Given the description of an element on the screen output the (x, y) to click on. 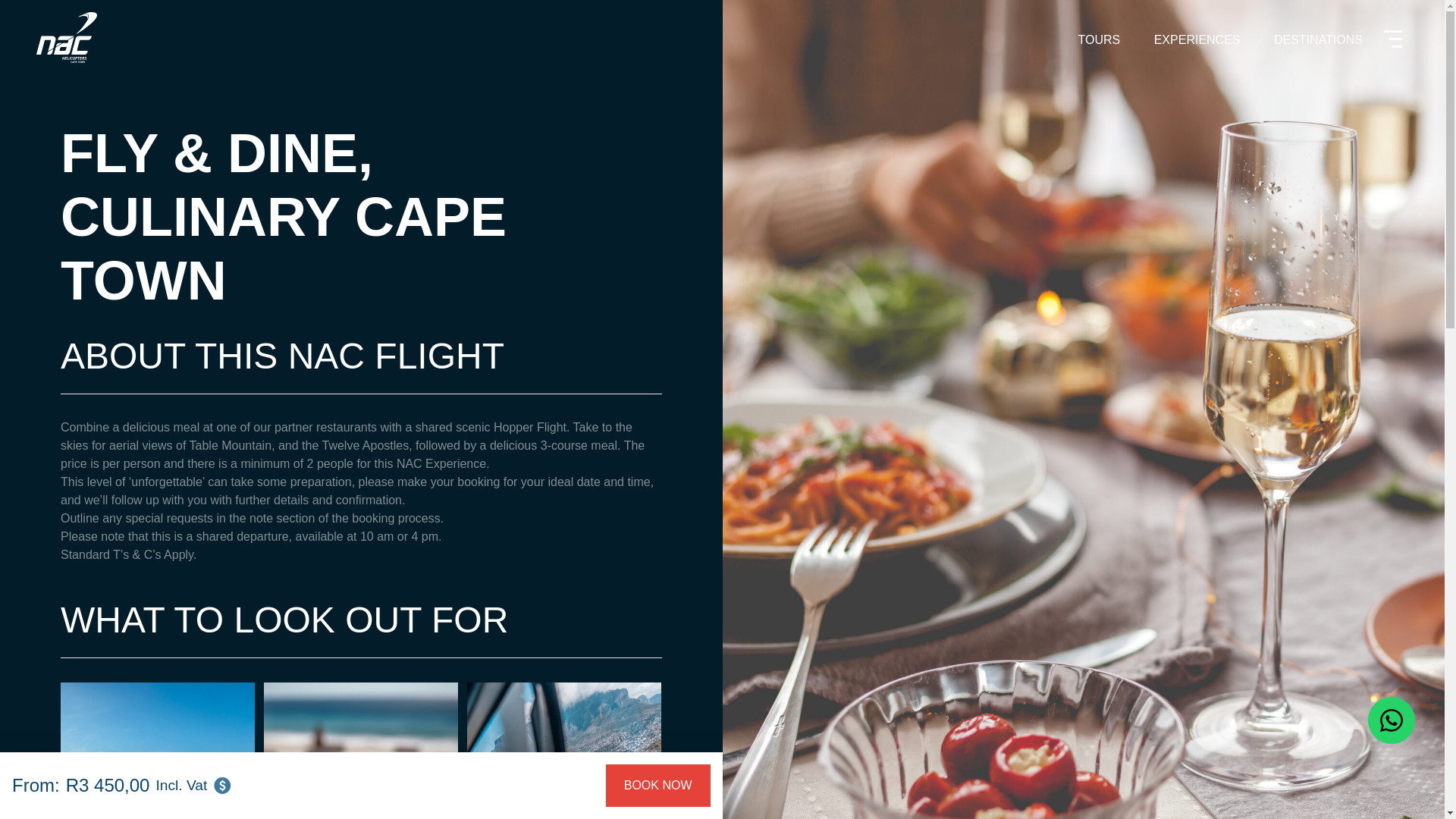
BOOK NOW (657, 785)
EXPERIENCES (1196, 39)
TOURS (1098, 39)
DESTINATIONS (1318, 40)
